Given the description of an element on the screen output the (x, y) to click on. 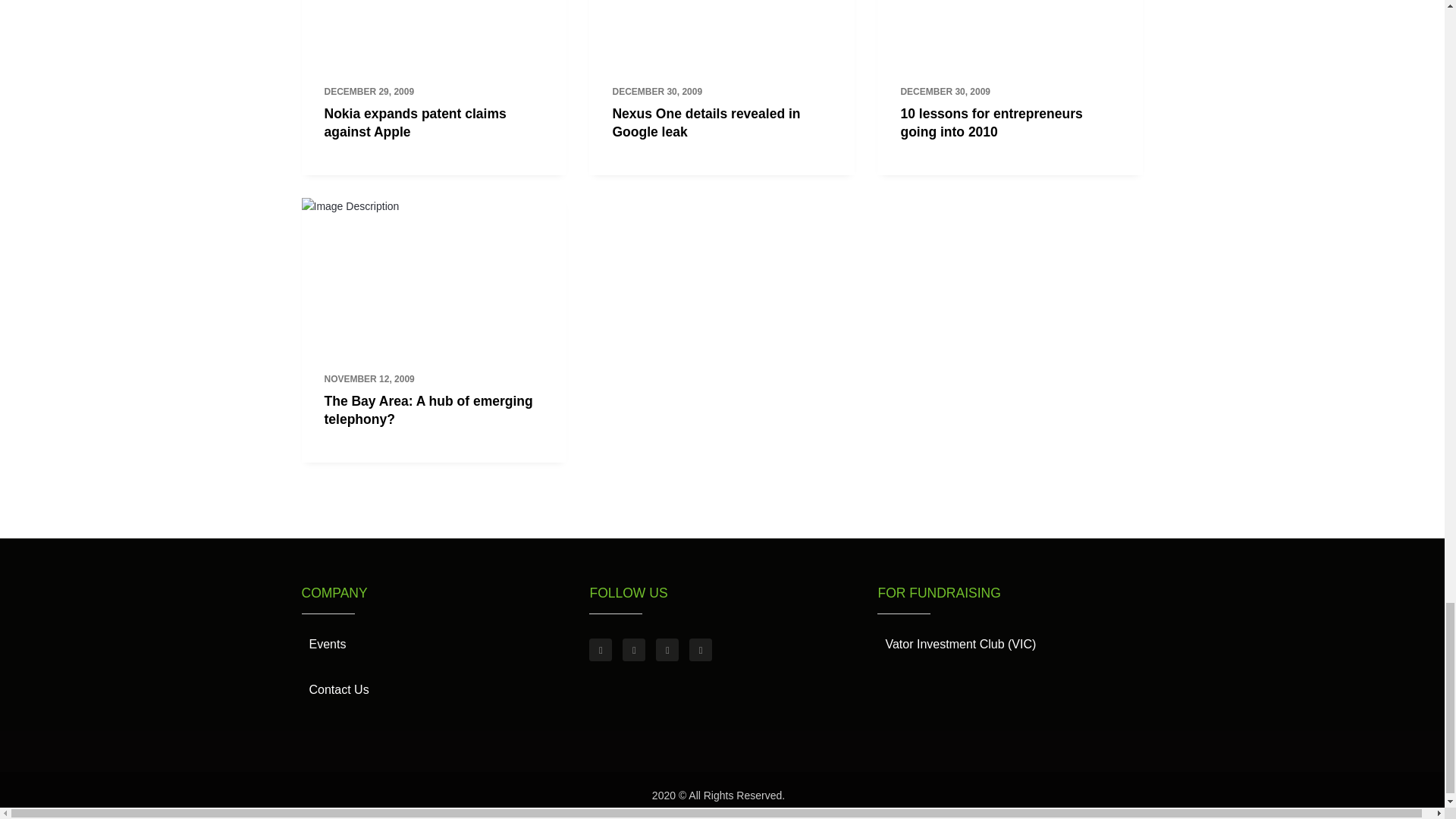
Nexus One details revealed in Google leak (705, 123)
Nokia expands patent claims against Apple (415, 123)
10 lessons for entrepreneurs going into 2010 (990, 123)
